Given the description of an element on the screen output the (x, y) to click on. 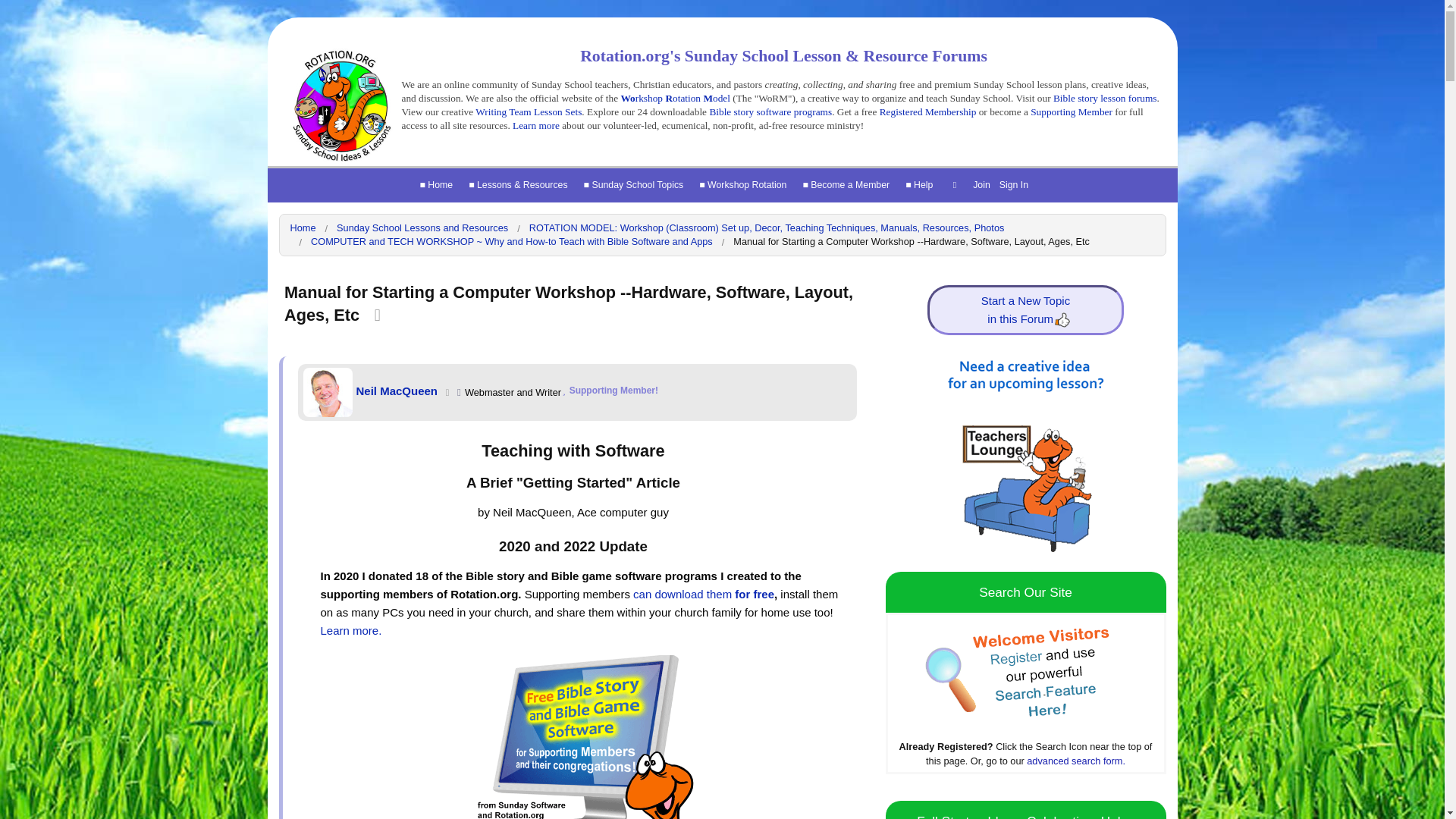
Bible story lesson forums (1104, 98)
Neil MacQueen (327, 391)
Bible story software programs (770, 111)
Writing Team Lesson Sets (528, 111)
Supporting Member (1071, 111)
Registered Membership (927, 111)
Learn more (537, 125)
Workshop Rotation Model (674, 98)
